Given the description of an element on the screen output the (x, y) to click on. 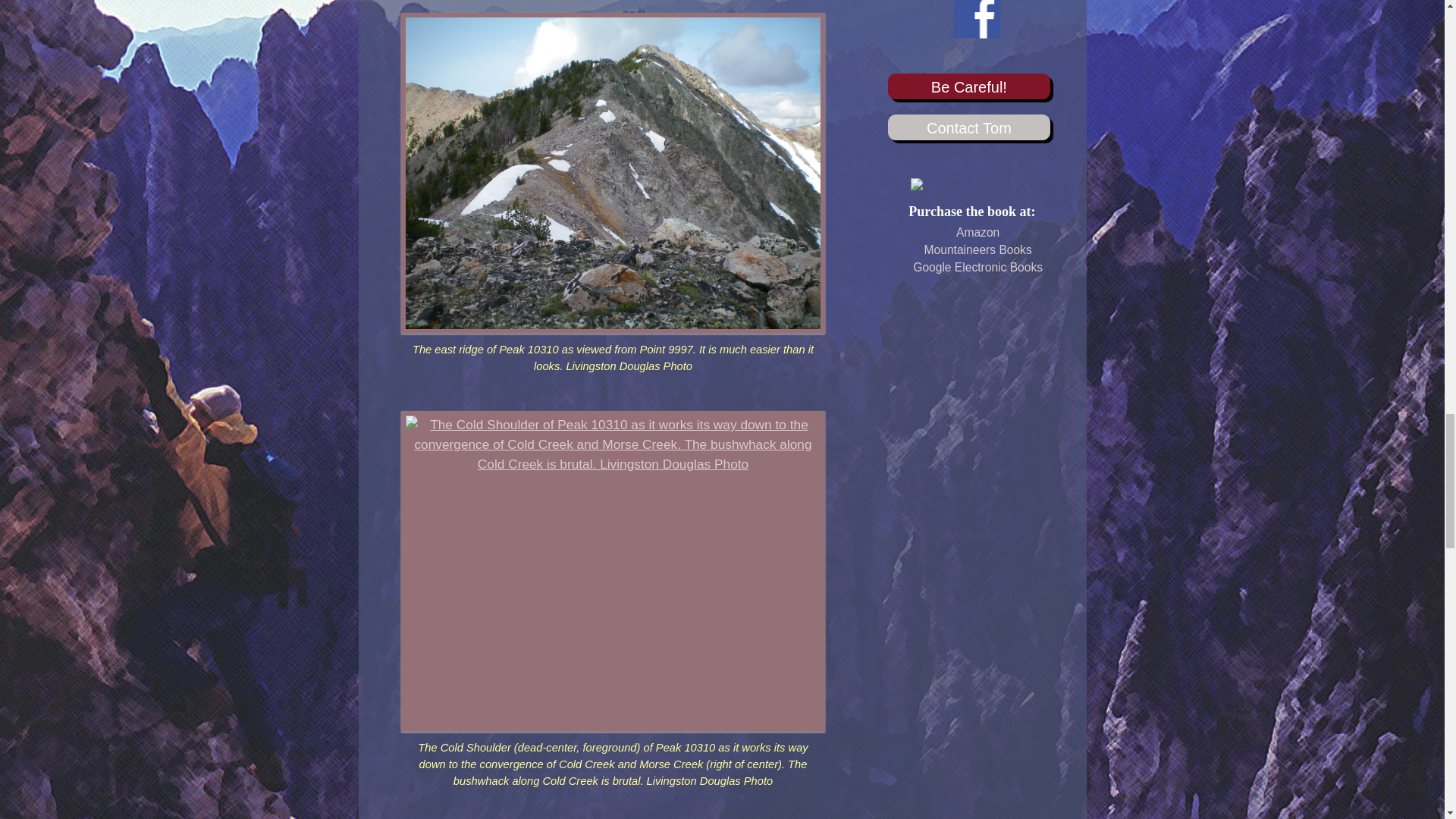
Follow us ... (976, 19)
Follow us ... (976, 33)
